Given the description of an element on the screen output the (x, y) to click on. 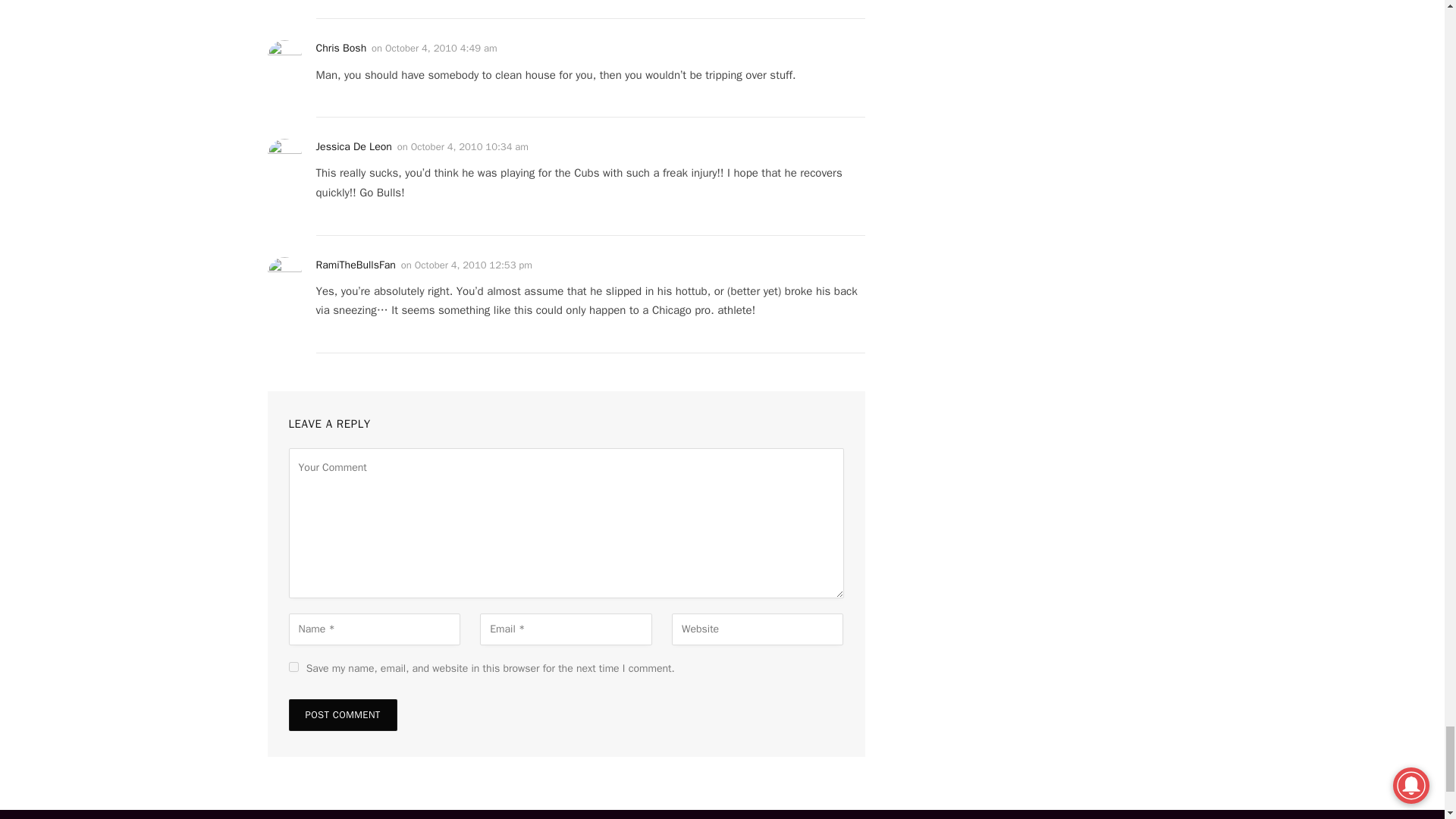
yes (293, 666)
Post Comment (342, 715)
